Given the description of an element on the screen output the (x, y) to click on. 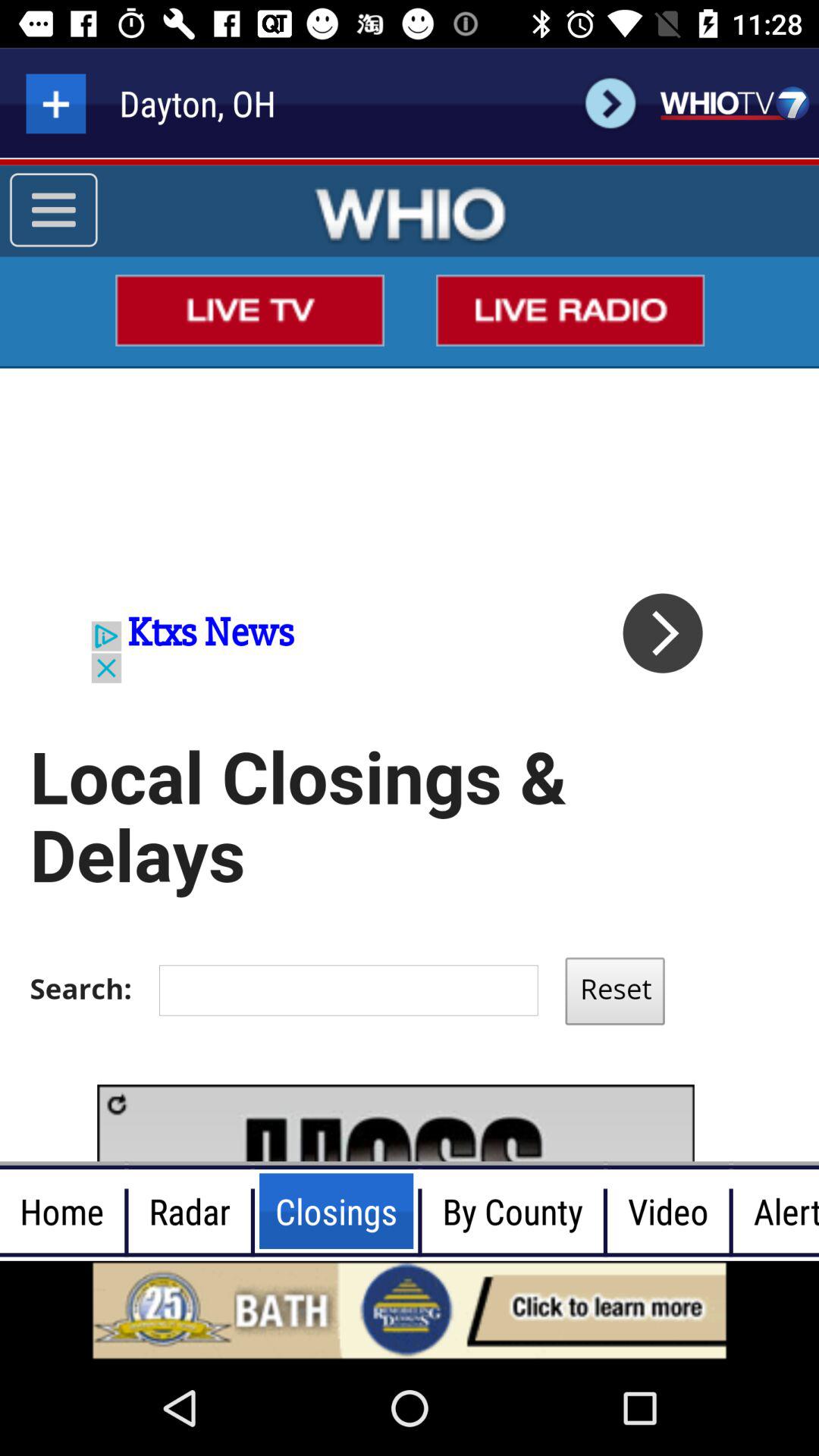
go forward (610, 103)
